Given the description of an element on the screen output the (x, y) to click on. 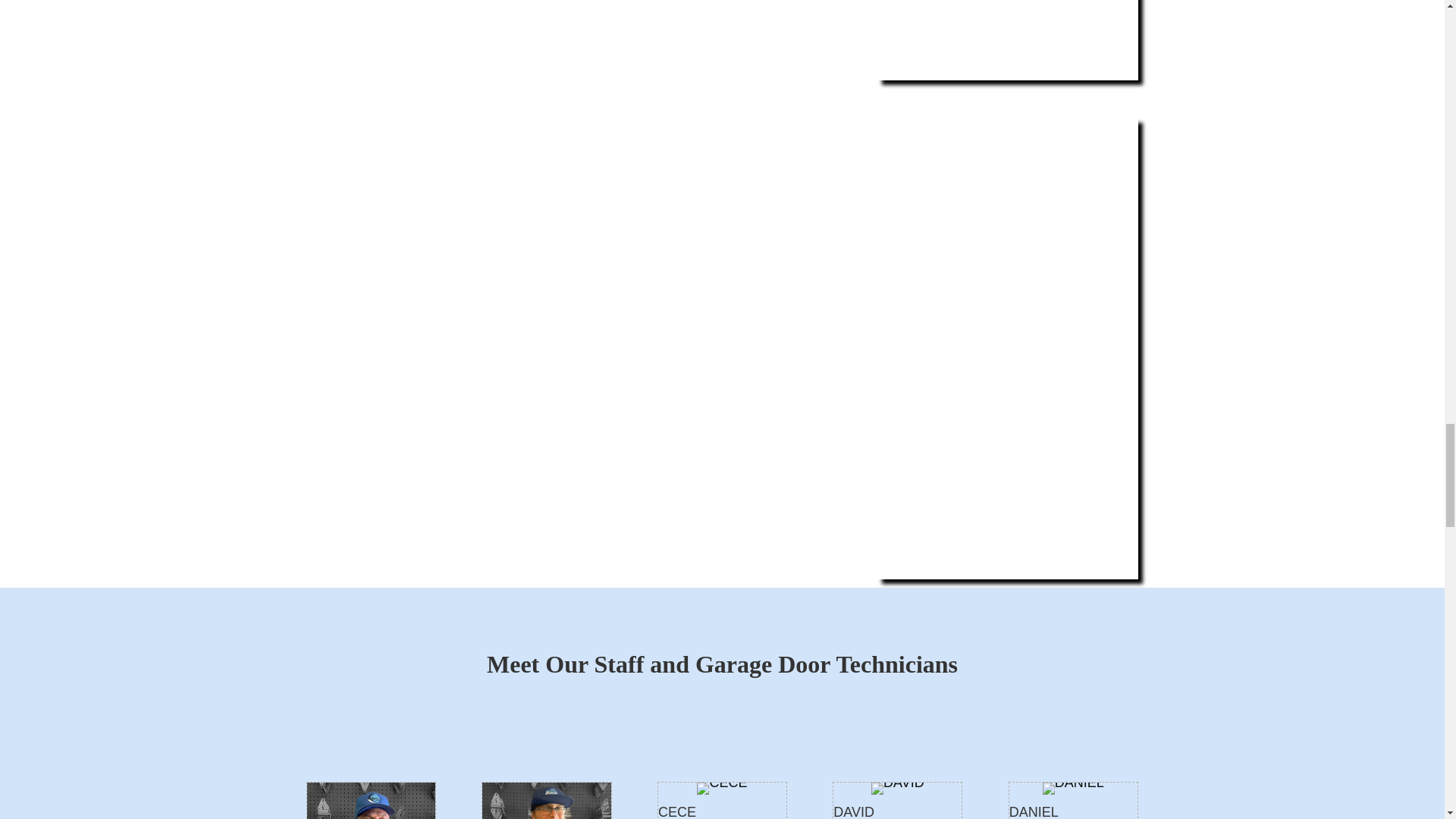
Garage Door Spring Replacement Houston TX (1007, 348)
Convert 2 Small Garage Doors to 1 Big Door in Houston (1007, 40)
